Given the description of an element on the screen output the (x, y) to click on. 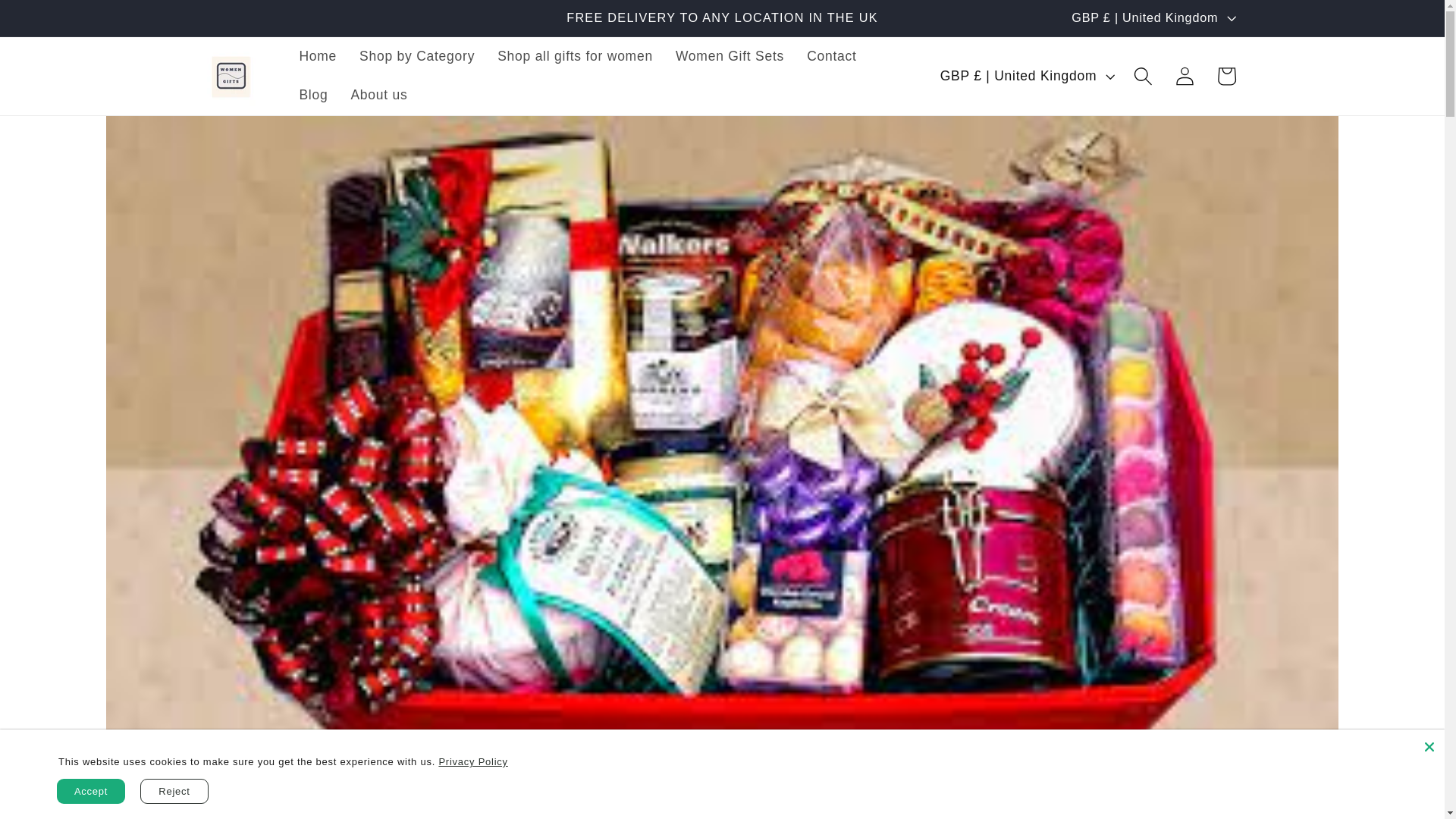
Privacy Policy (472, 761)
Blog (312, 95)
Shop by Category (416, 56)
Home (316, 56)
Women Gift Sets (728, 56)
Log in (1184, 76)
About us (379, 95)
Cart (1226, 76)
Skip to content (57, 21)
Shopify online store chat (1383, 781)
Shop all gifts for women (574, 56)
Contact (830, 56)
